Given the description of an element on the screen output the (x, y) to click on. 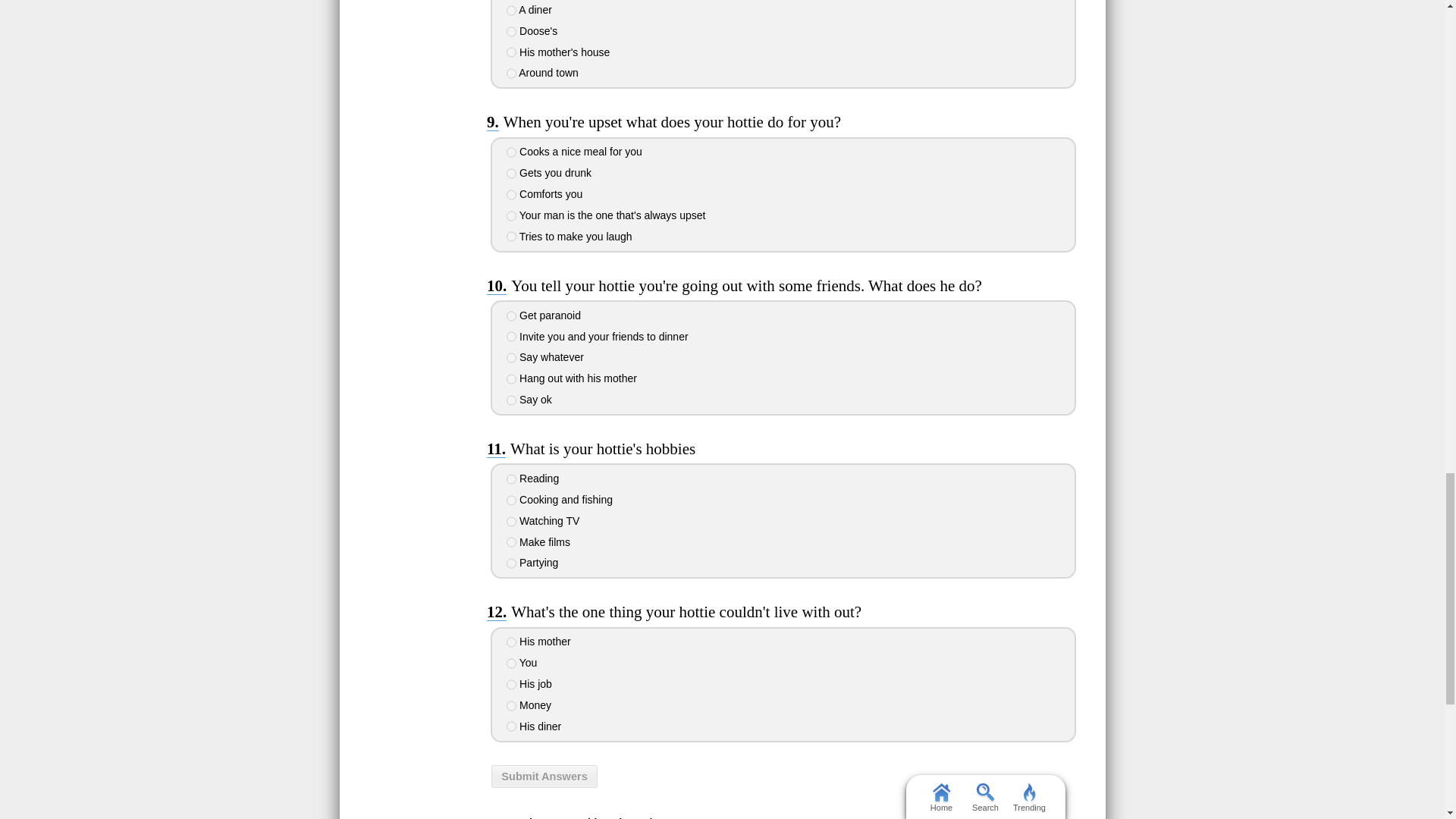
Submit Answers (544, 775)
